Given the description of an element on the screen output the (x, y) to click on. 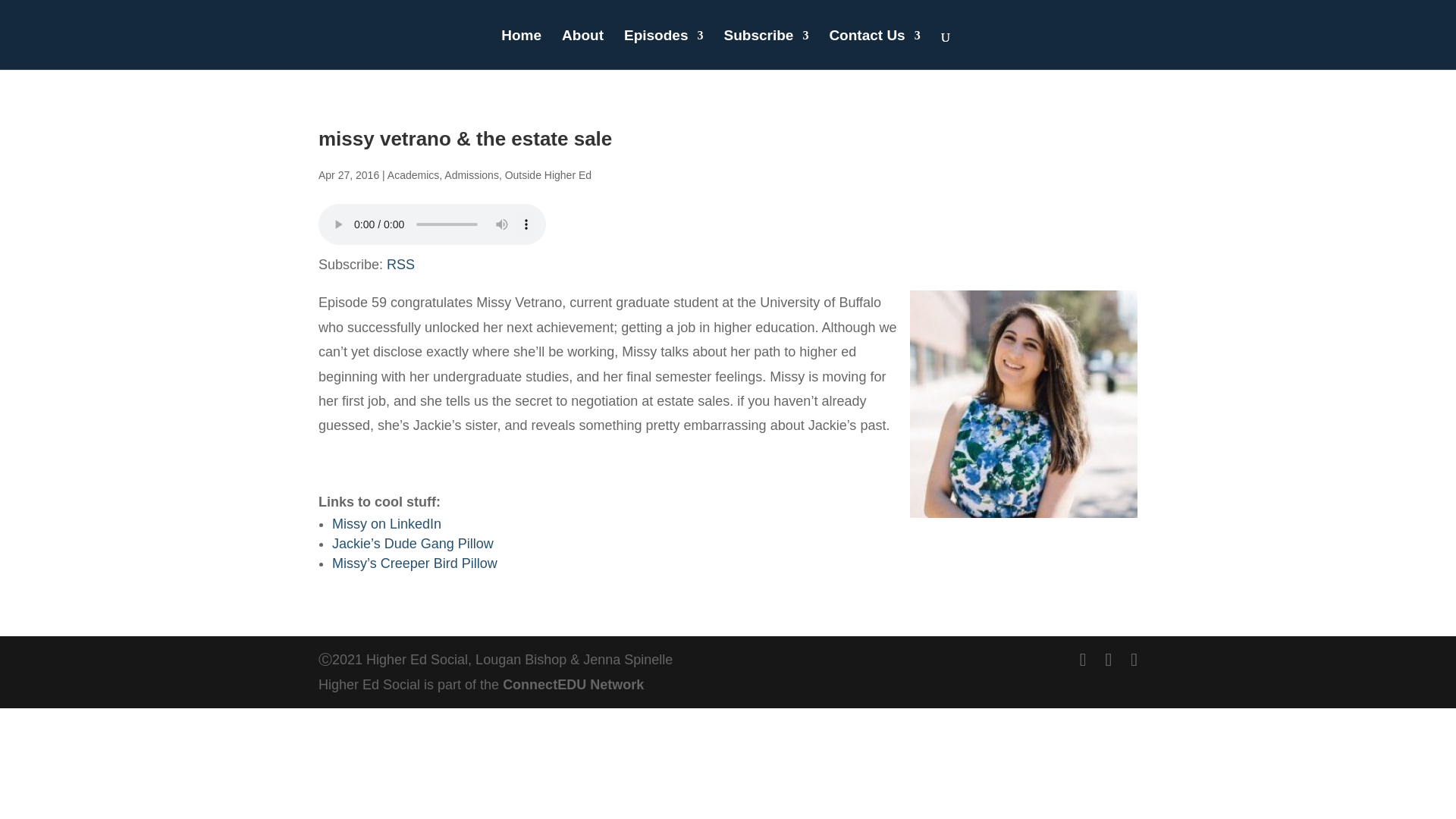
Subscribe (765, 49)
Admissions (471, 174)
About (583, 49)
Contact Us (874, 49)
Home (520, 49)
Missy on LinkedIn (386, 523)
Episodes (663, 49)
Subscribe (765, 49)
RSS (400, 264)
Contact Us (874, 49)
